Given the description of an element on the screen output the (x, y) to click on. 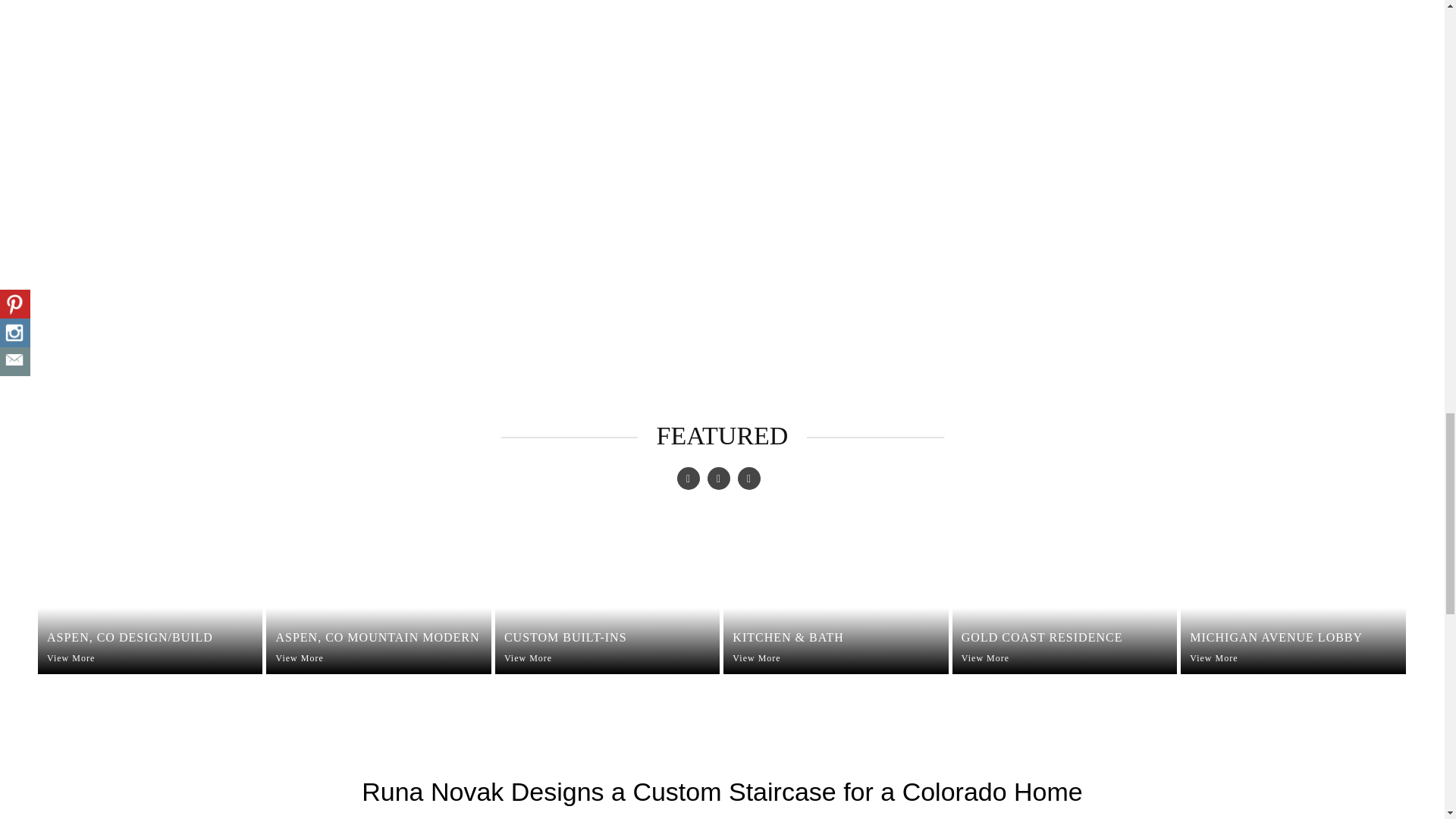
ASPEN, CO MOUNTAIN MODERN (382, 636)
View More (382, 658)
GOLD COAST RESIDENCE (1068, 636)
View More (611, 658)
MICHIGAN AVENUE LOBBY (1297, 636)
View More (1068, 658)
View More (839, 658)
View More (1297, 658)
CUSTOM BUILT-INS (611, 636)
View More (154, 658)
